Given the description of an element on the screen output the (x, y) to click on. 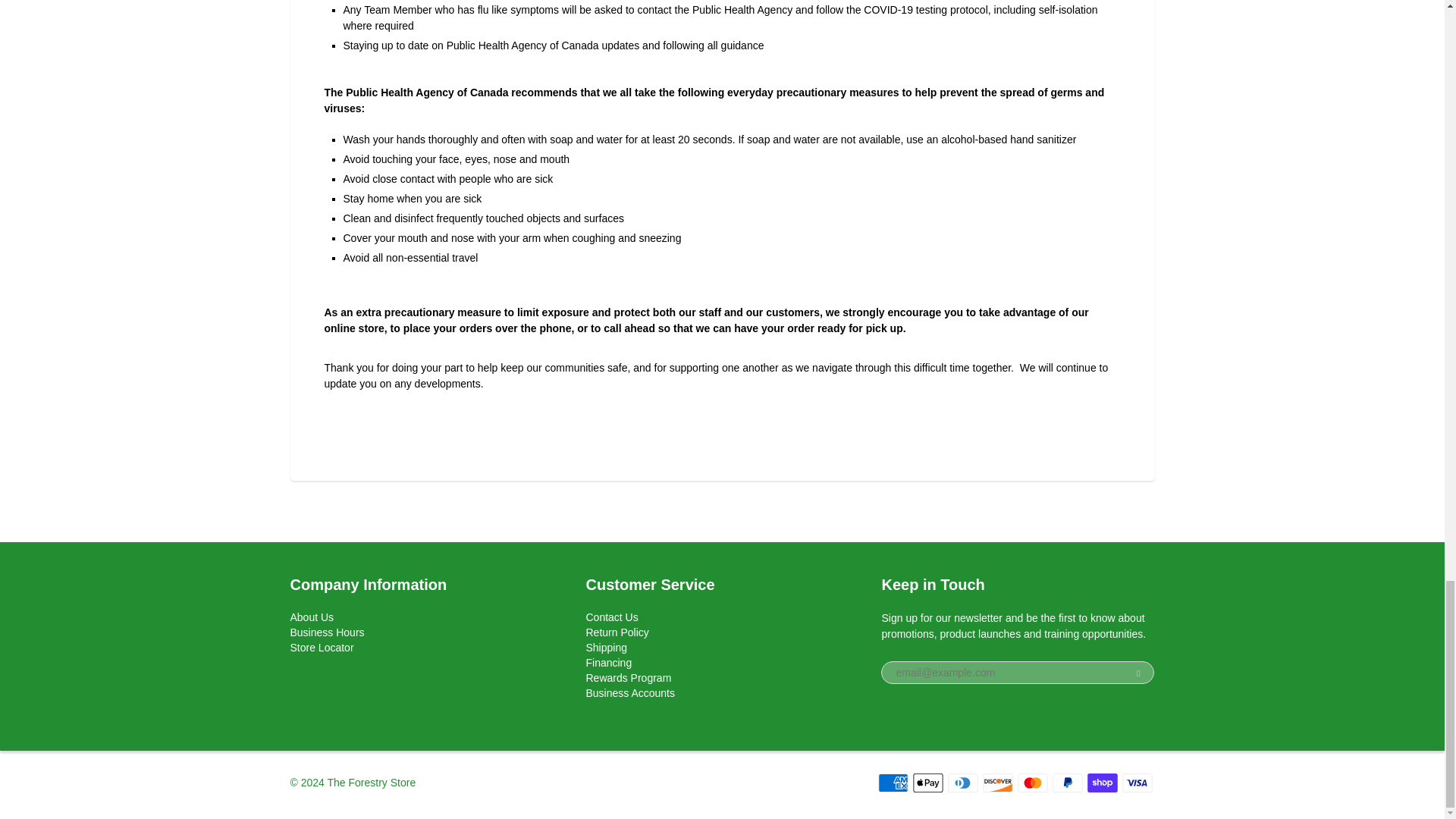
Diners Club (962, 782)
Discover (997, 782)
Mastercard (1032, 782)
Shop Pay (1102, 782)
PayPal (1067, 782)
Apple Pay (927, 782)
Visa (1137, 782)
American Express (892, 782)
